Given the description of an element on the screen output the (x, y) to click on. 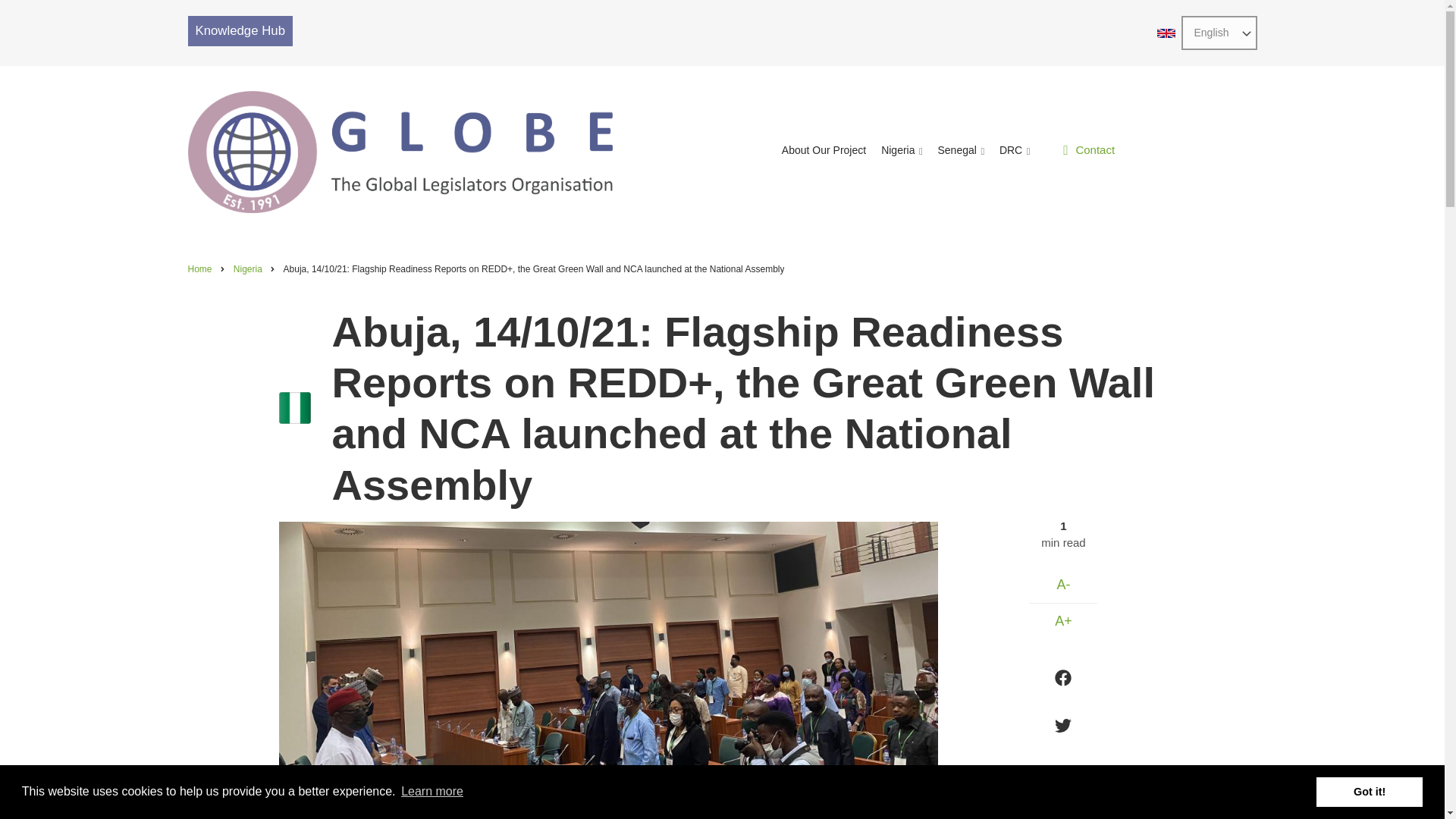
About Our Project (823, 151)
Contact (1088, 150)
English (1165, 32)
Got it! (1369, 791)
Knowledge Hub (240, 30)
Learn more (431, 791)
Home (199, 268)
Nigeria (247, 268)
Home (399, 151)
